Given the description of an element on the screen output the (x, y) to click on. 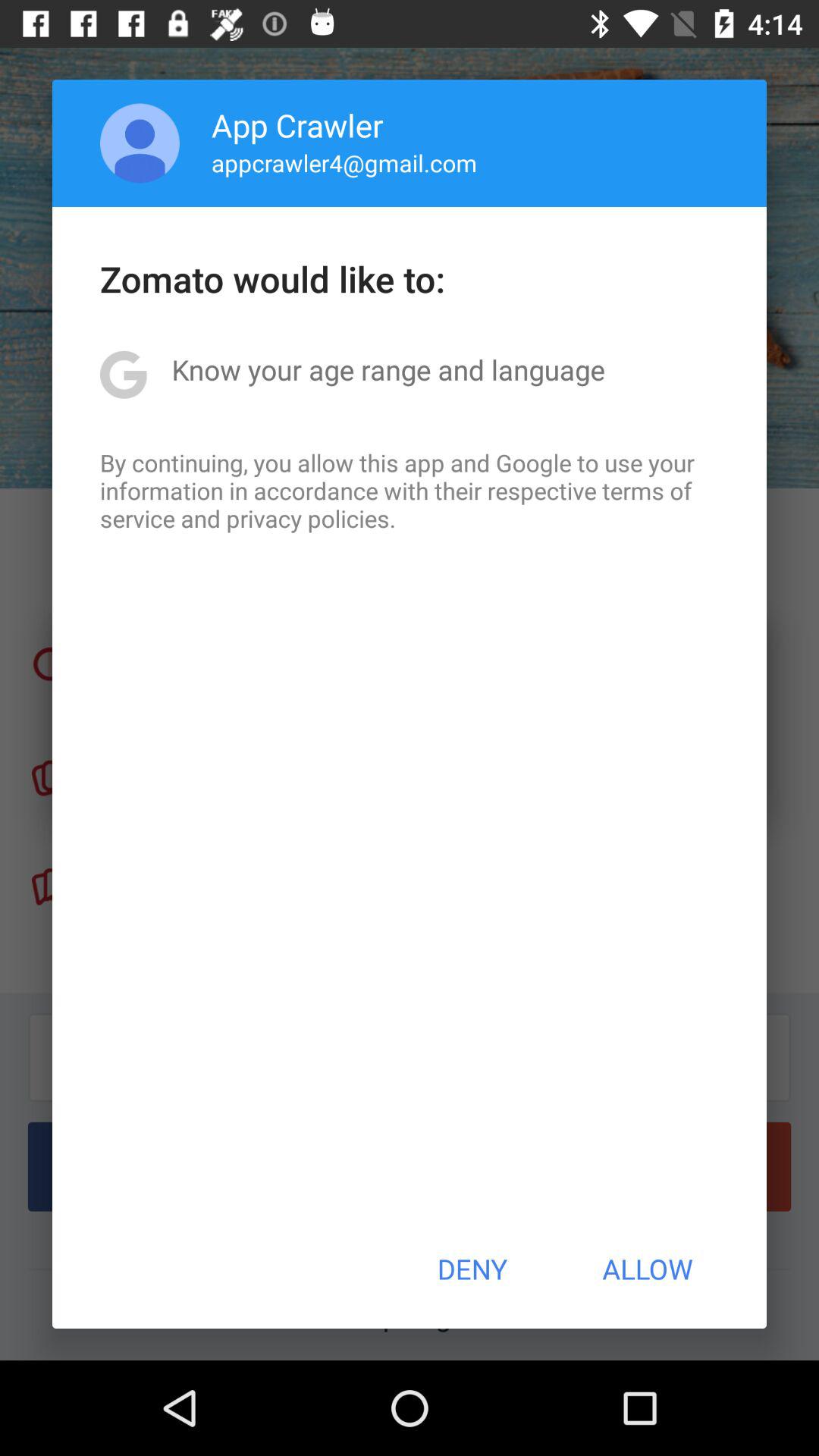
launch item at the bottom (471, 1268)
